Given the description of an element on the screen output the (x, y) to click on. 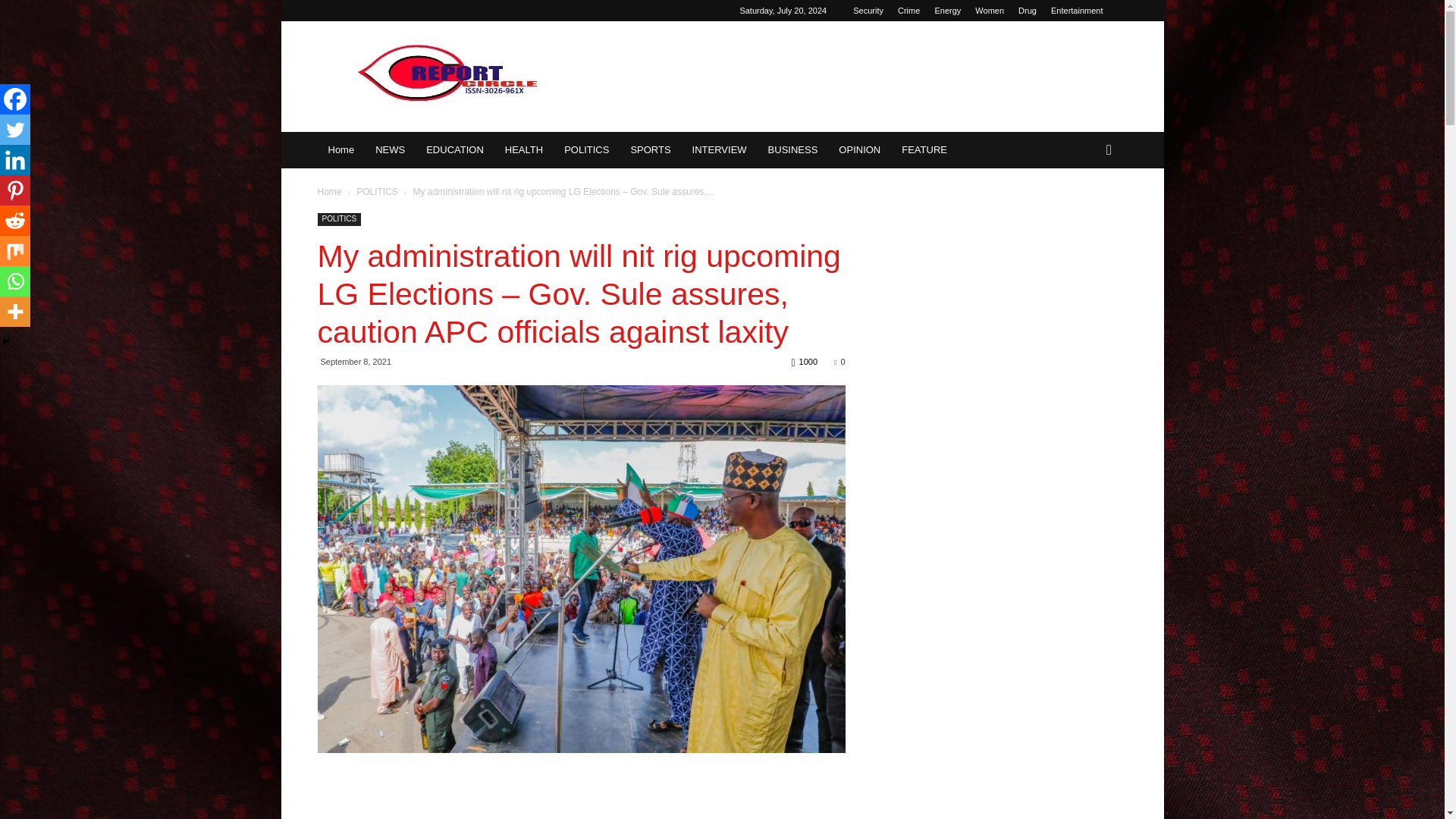
Home (341, 149)
Women (989, 10)
Drug (1026, 10)
POLITICS (339, 219)
Security (868, 10)
OPINION (859, 149)
SPORTS (650, 149)
Crime (909, 10)
FEATURE (924, 149)
Energy (947, 10)
POLITICS (378, 191)
Home (328, 191)
BUSINESS (792, 149)
Entertainment (1076, 10)
0 (839, 361)
